Given the description of an element on the screen output the (x, y) to click on. 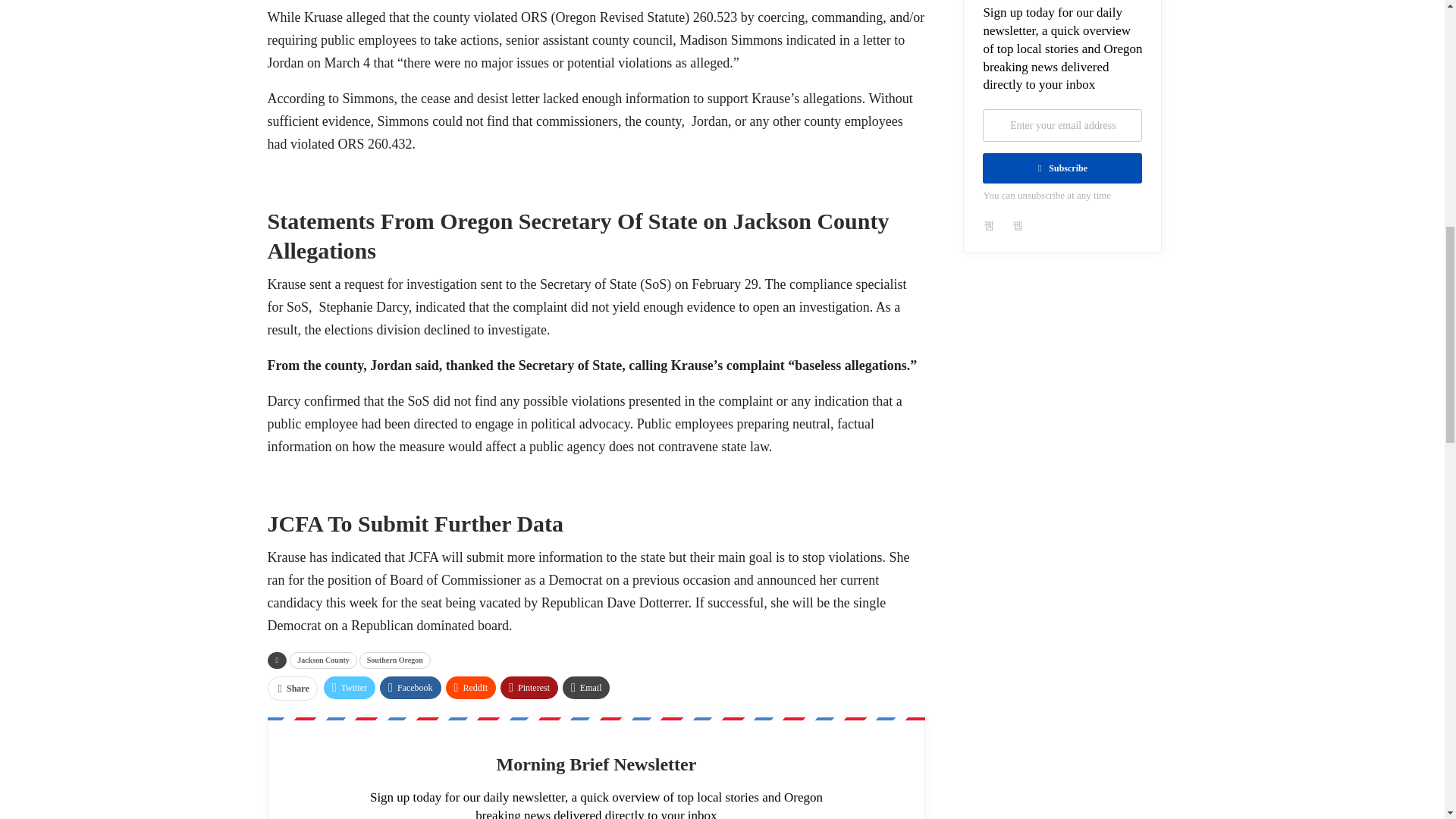
Email (586, 687)
Twitter (349, 687)
ReddIt (470, 687)
Pinterest (528, 687)
Facebook (410, 687)
Jackson County (322, 660)
Southern Oregon (394, 660)
